Given the description of an element on the screen output the (x, y) to click on. 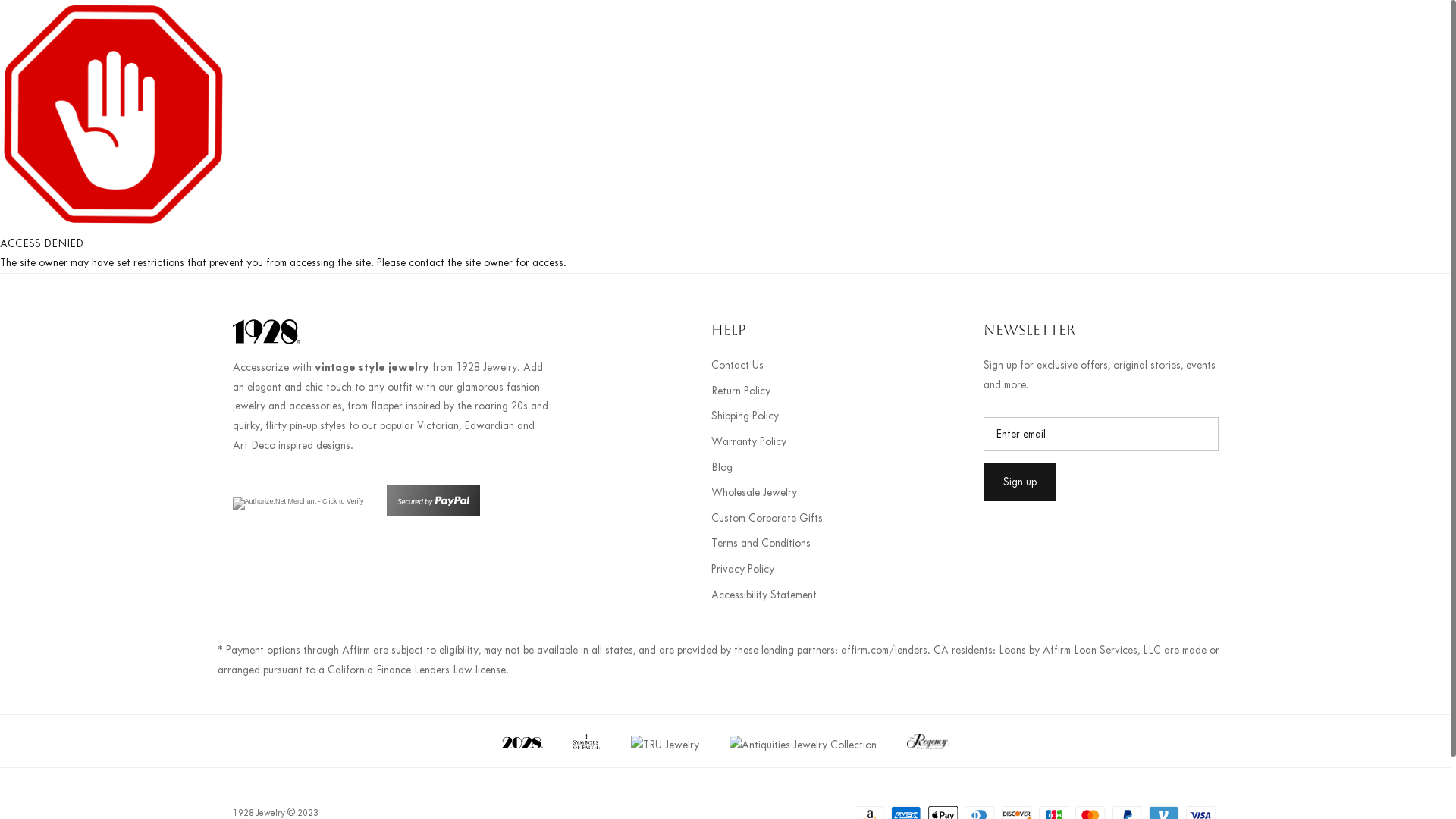
Return Policy Element type: text (740, 390)
How PayPal Works Element type: hover (433, 511)
affirm.com/lenders Element type: text (883, 649)
Terms and Conditions Element type: text (760, 542)
Wholesale Jewelry Element type: text (754, 492)
Accessibility Statement Element type: text (763, 594)
Blog Element type: text (721, 467)
Sign up Element type: text (1018, 482)
Warranty Policy Element type: text (748, 441)
Contact Us Element type: text (737, 364)
Shipping Policy Element type: text (744, 415)
Custom Corporate Gifts Element type: text (766, 517)
Privacy Policy Element type: text (742, 568)
